Given the description of an element on the screen output the (x, y) to click on. 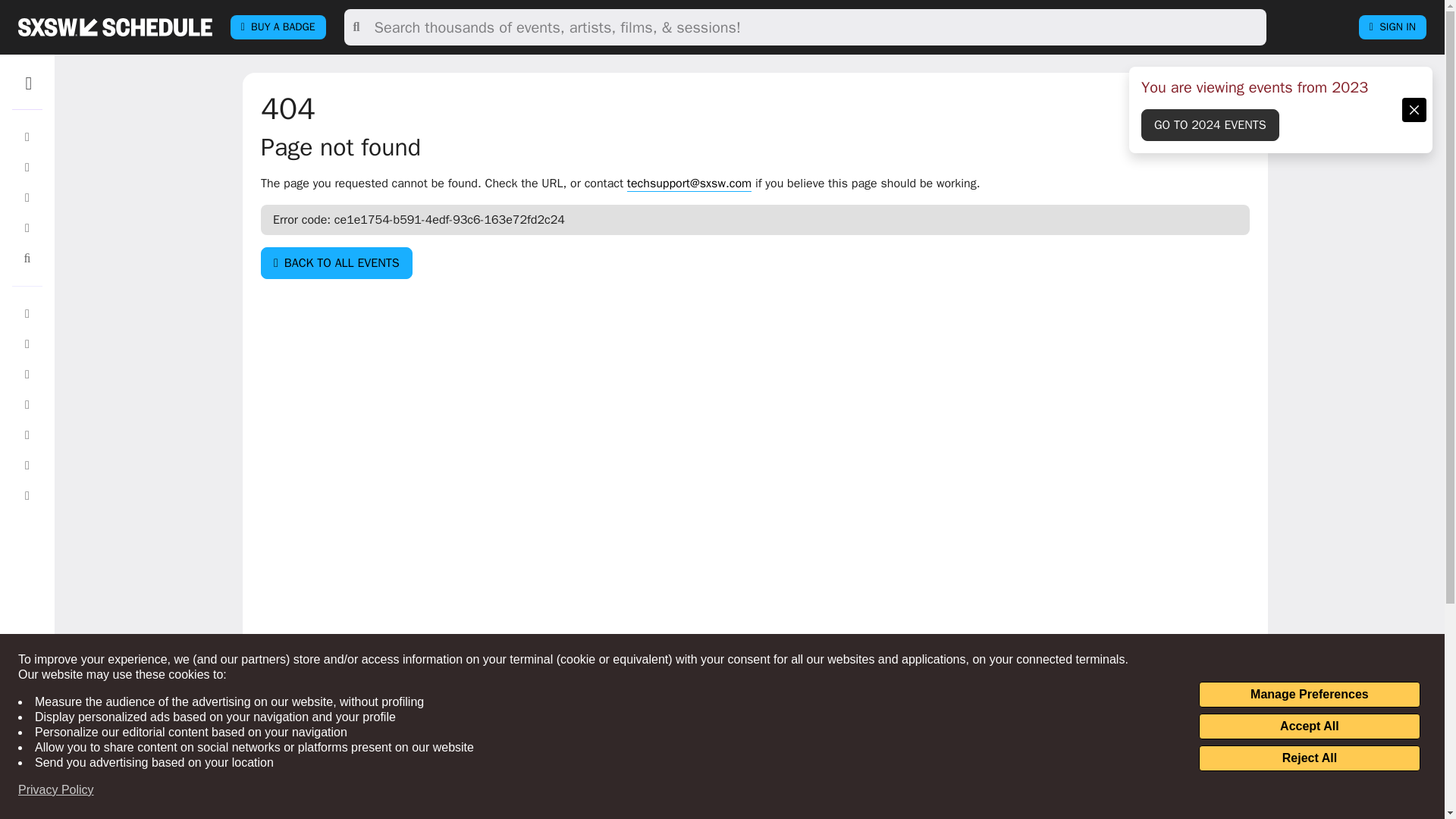
Manage Preferences (1309, 694)
BUY A BADGE (278, 27)
GO TO 2024 EVENTS (1210, 124)
Accept All (1309, 726)
sxsw SCHEDULE (114, 27)
SIGN IN (1392, 27)
Reject All (1309, 758)
Privacy Policy (55, 789)
